Given the description of an element on the screen output the (x, y) to click on. 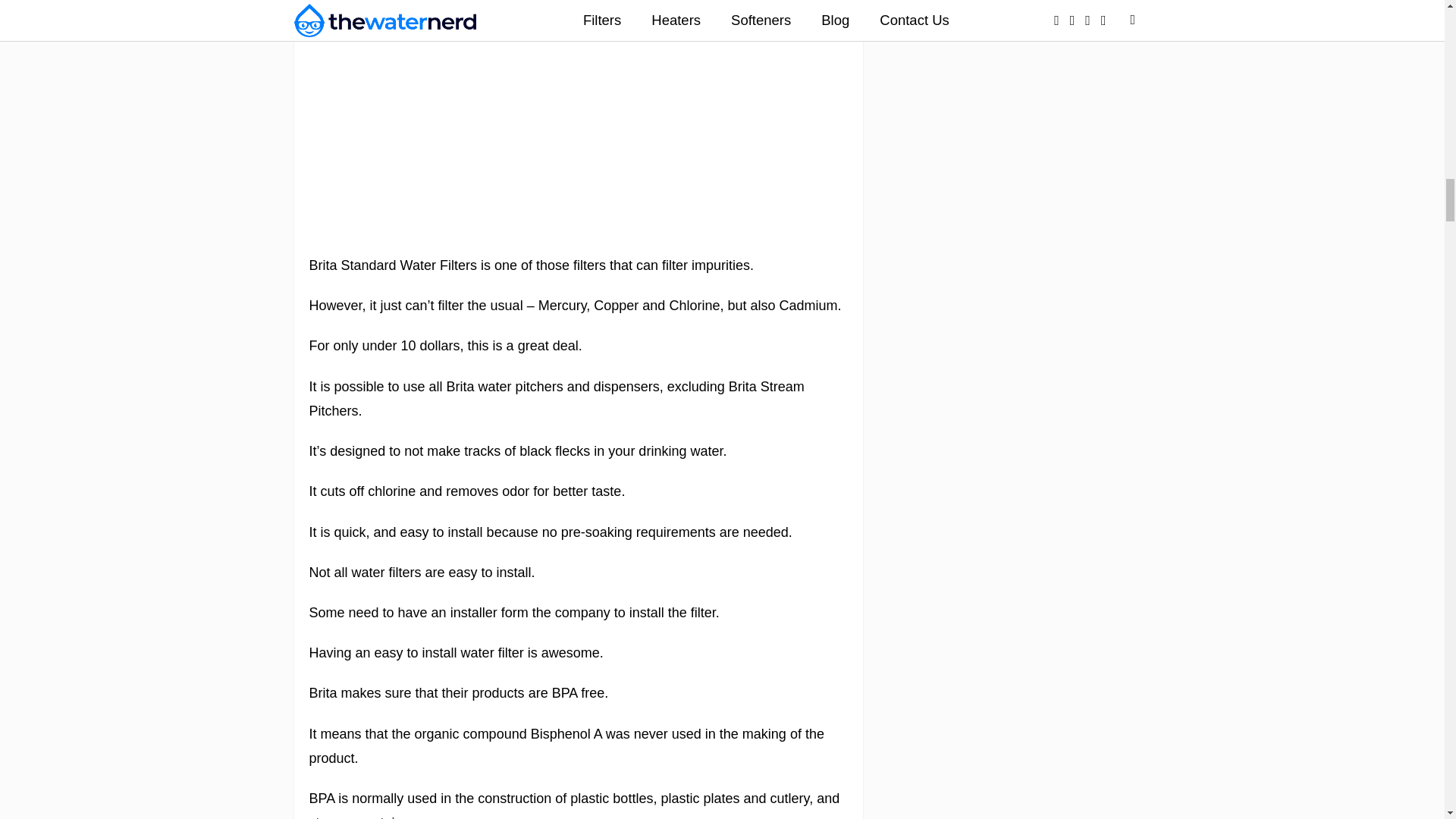
Brita Standard Filter Replacement, White (578, 224)
